Given the description of an element on the screen output the (x, y) to click on. 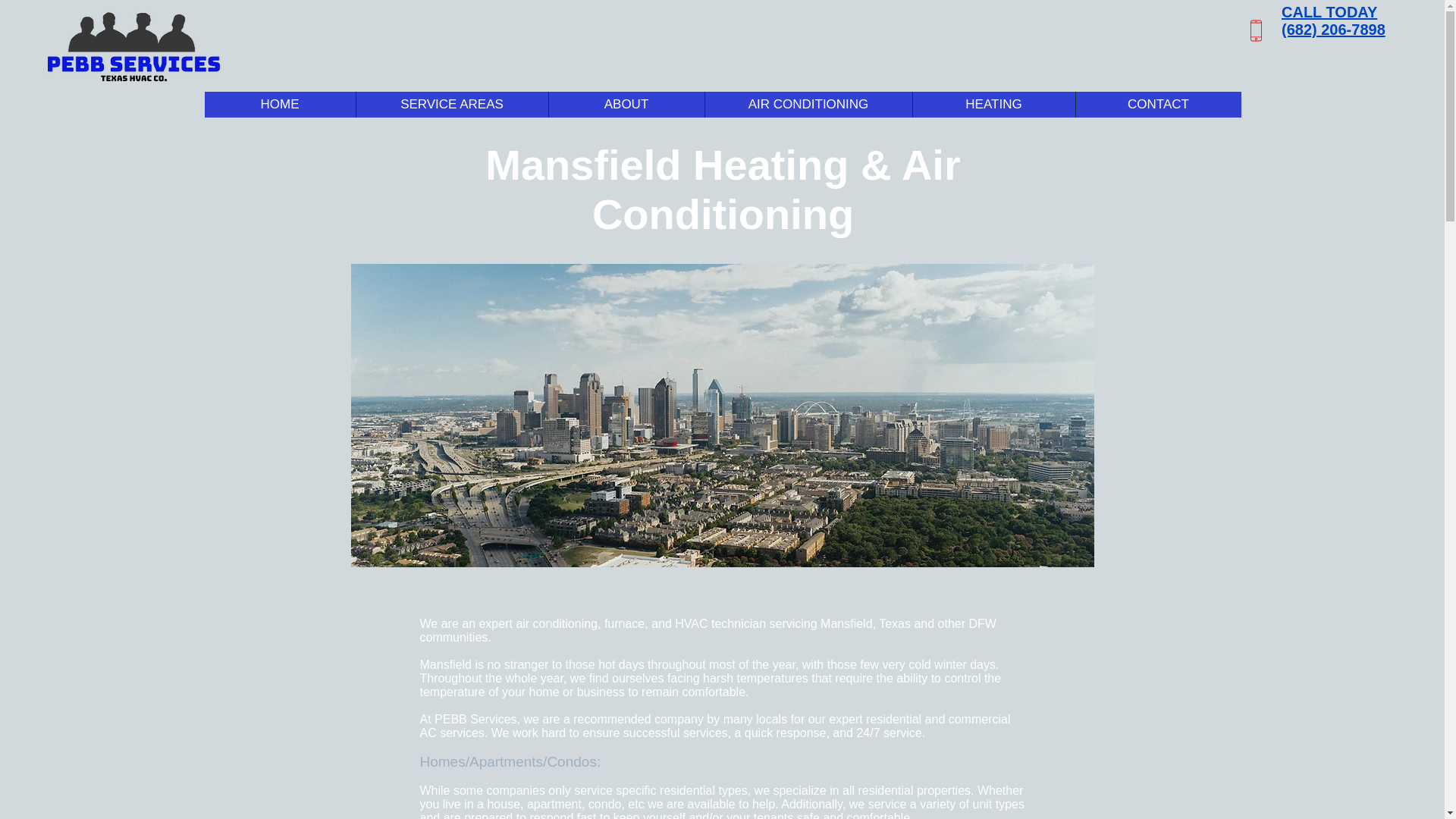
SERVICE AREAS (451, 104)
ABOUT (625, 104)
HOME (280, 104)
CONTACT (1158, 104)
HEATING (992, 104)
AIR CONDITIONING (807, 104)
